Given the description of an element on the screen output the (x, y) to click on. 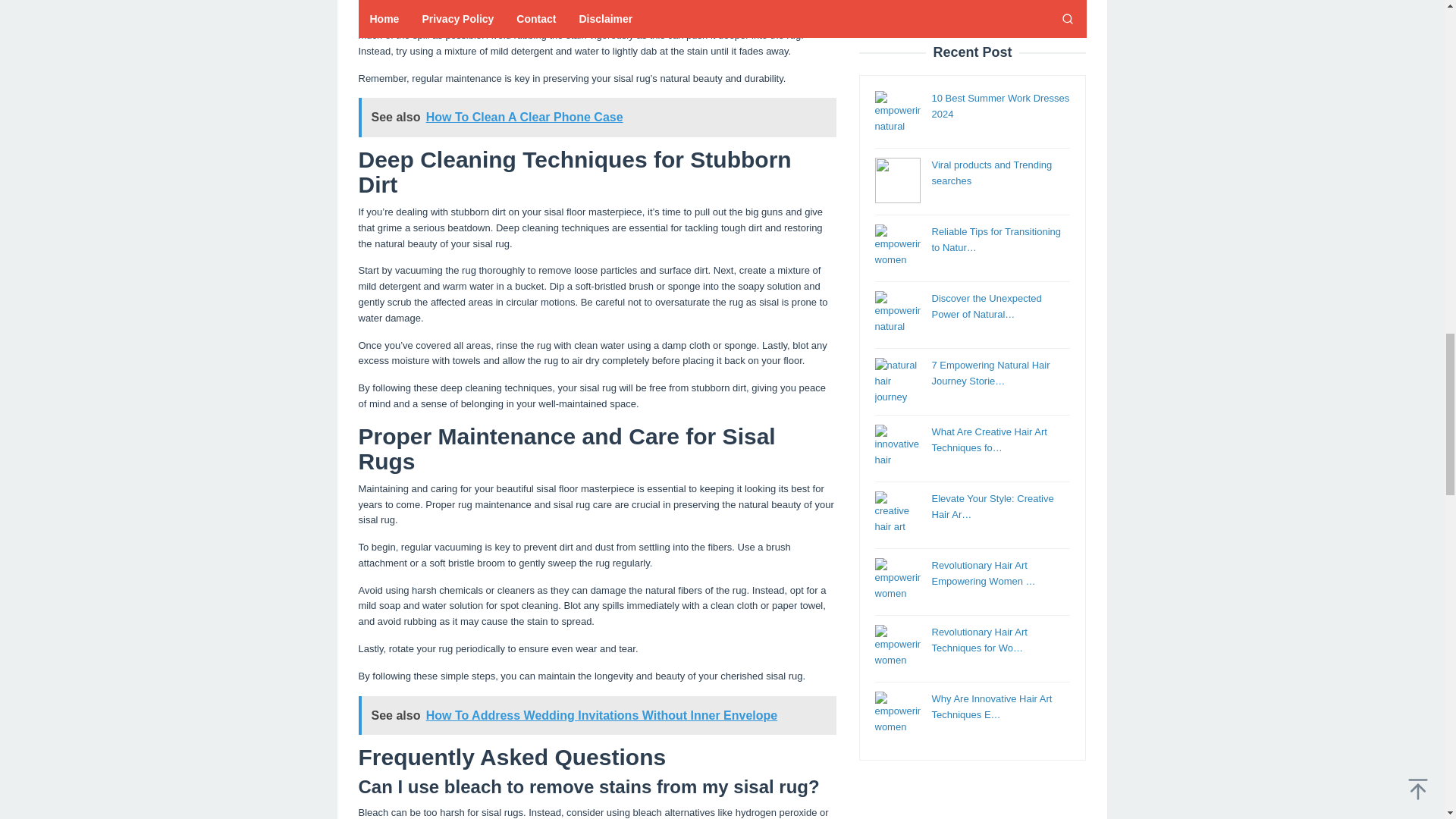
See also  How To Clean A Clear Phone Case (596, 117)
